Given the description of an element on the screen output the (x, y) to click on. 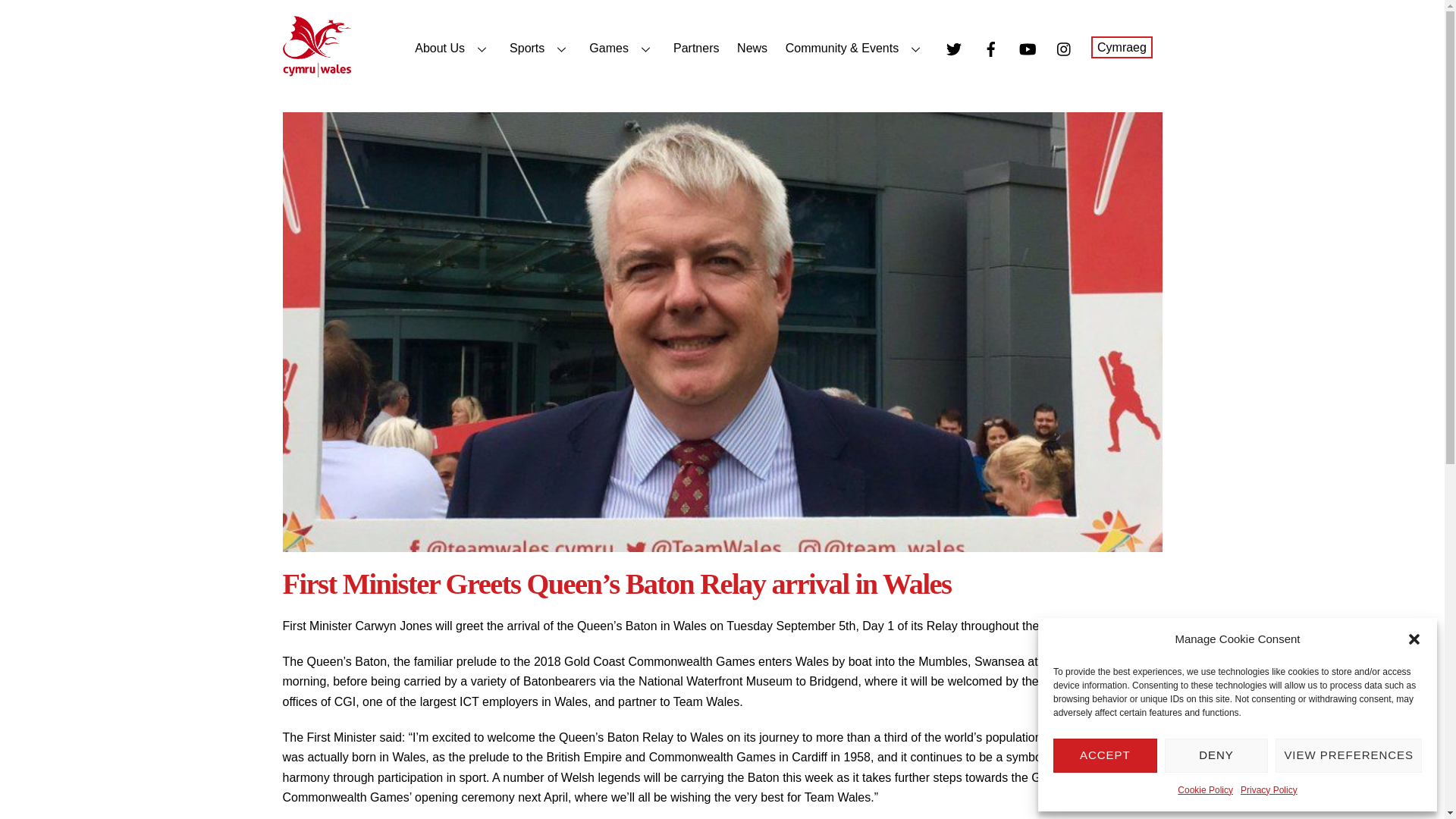
ACCEPT (1104, 755)
About Us (453, 48)
News (751, 48)
Privacy Policy (1268, 790)
Cymraeg (1120, 47)
Partners (695, 48)
Cookie Policy (1205, 790)
DENY (1216, 755)
Games (622, 48)
VIEW PREFERENCES (1348, 755)
Sports (540, 48)
Team Wales (316, 69)
